Given the description of an element on the screen output the (x, y) to click on. 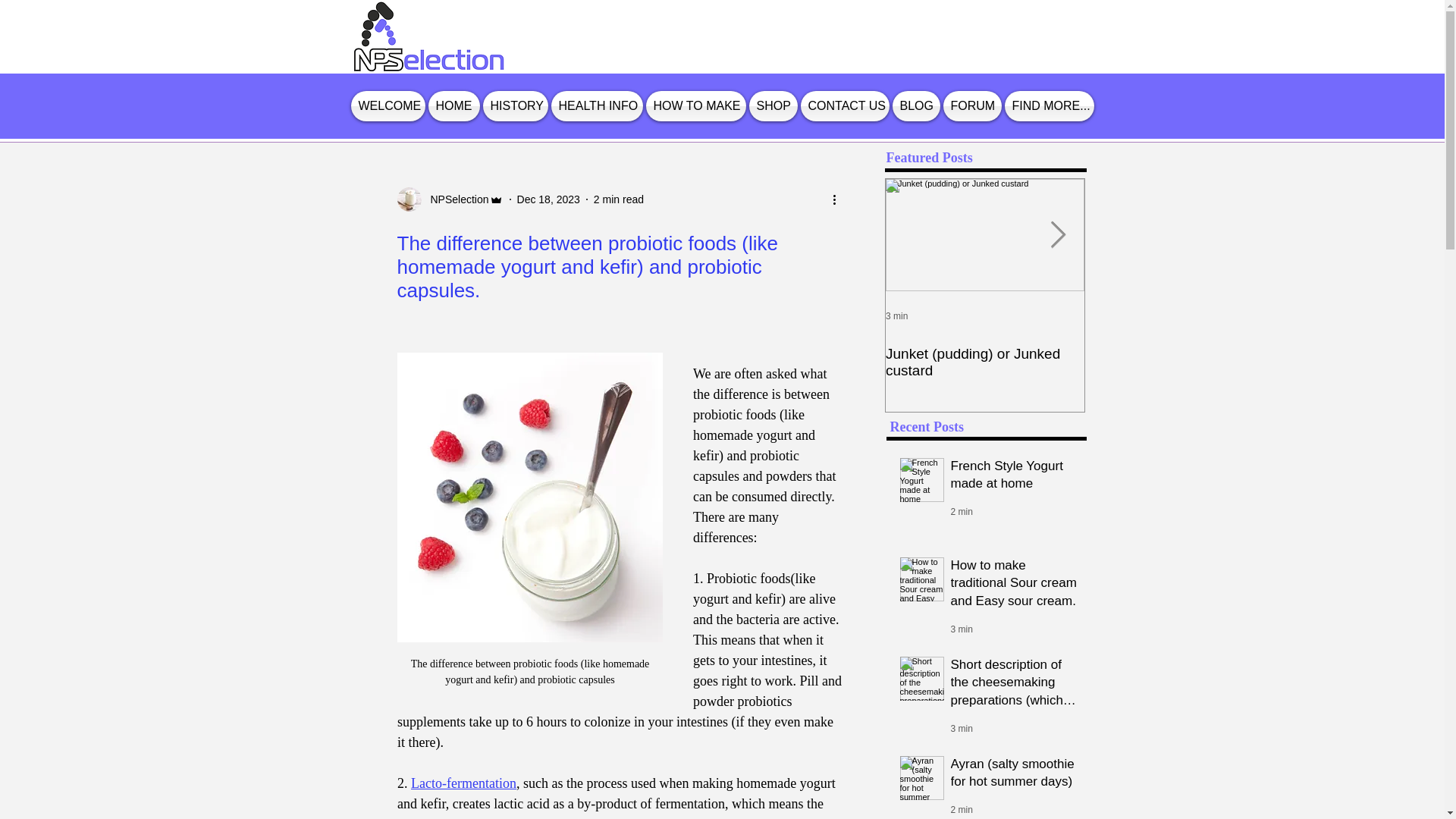
HOW TO MAKE (696, 105)
3 min (896, 316)
2 min (961, 511)
SHOP (773, 105)
2 min (961, 809)
NPSelection (455, 198)
Dec 18, 2023 (547, 198)
HOME (453, 105)
HEALTH INFO (595, 105)
3 min (961, 629)
